Given the description of an element on the screen output the (x, y) to click on. 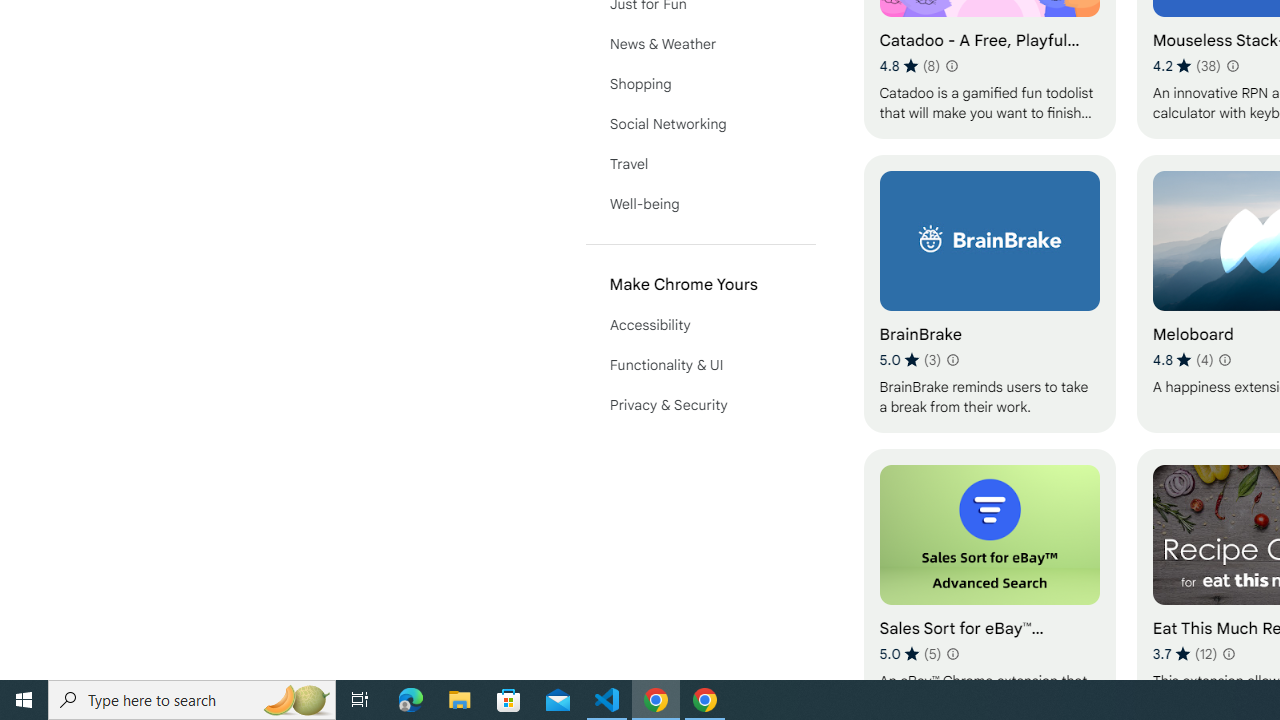
Average rating 4.8 out of 5 stars. 8 ratings. (909, 66)
Privacy & Security (700, 404)
Travel (700, 164)
Shopping (700, 83)
